Given the description of an element on the screen output the (x, y) to click on. 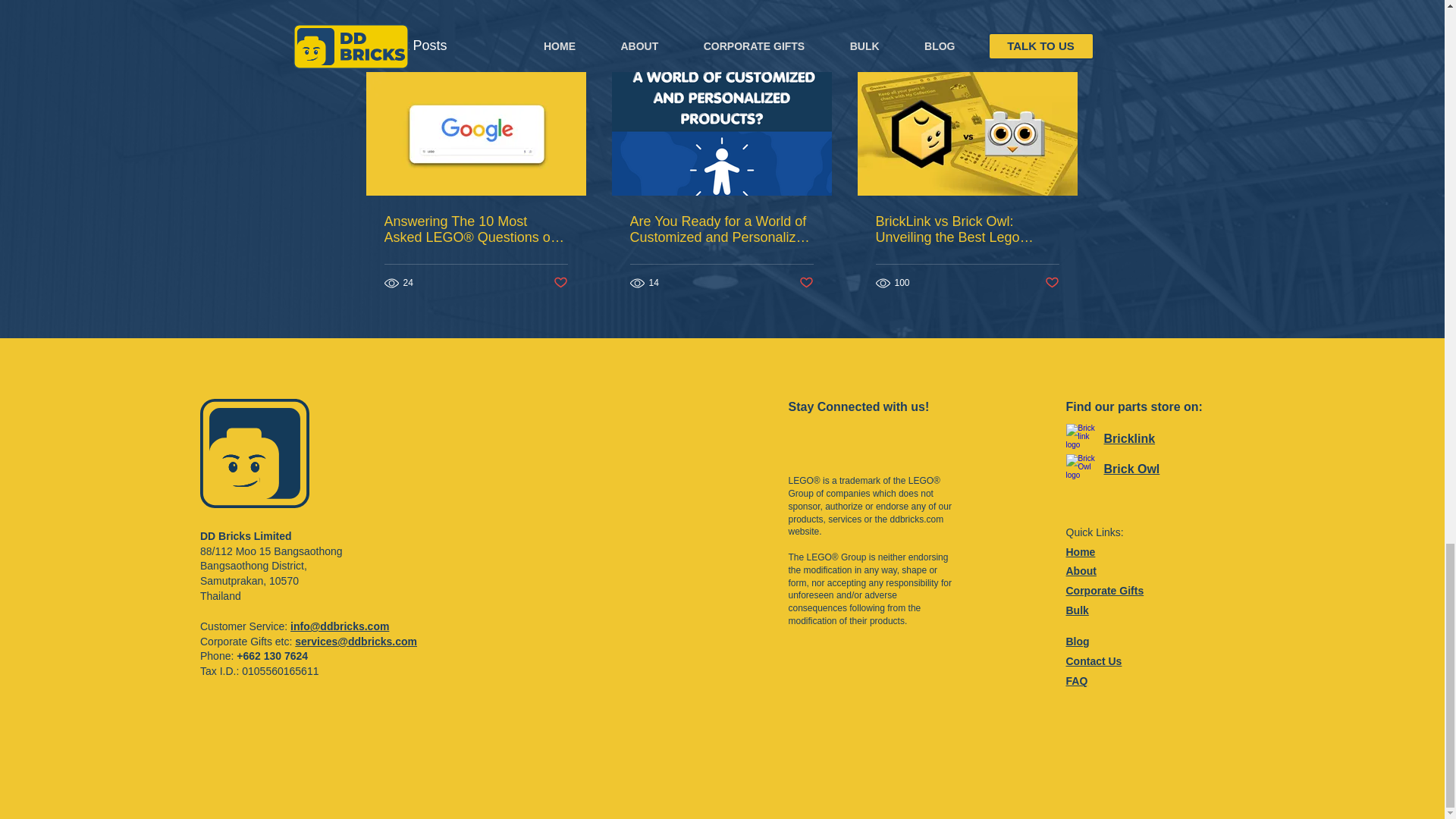
Post not marked as liked (560, 283)
Post not marked as liked (1052, 283)
Post not marked as liked (806, 283)
See All (1061, 45)
